Given the description of an element on the screen output the (x, y) to click on. 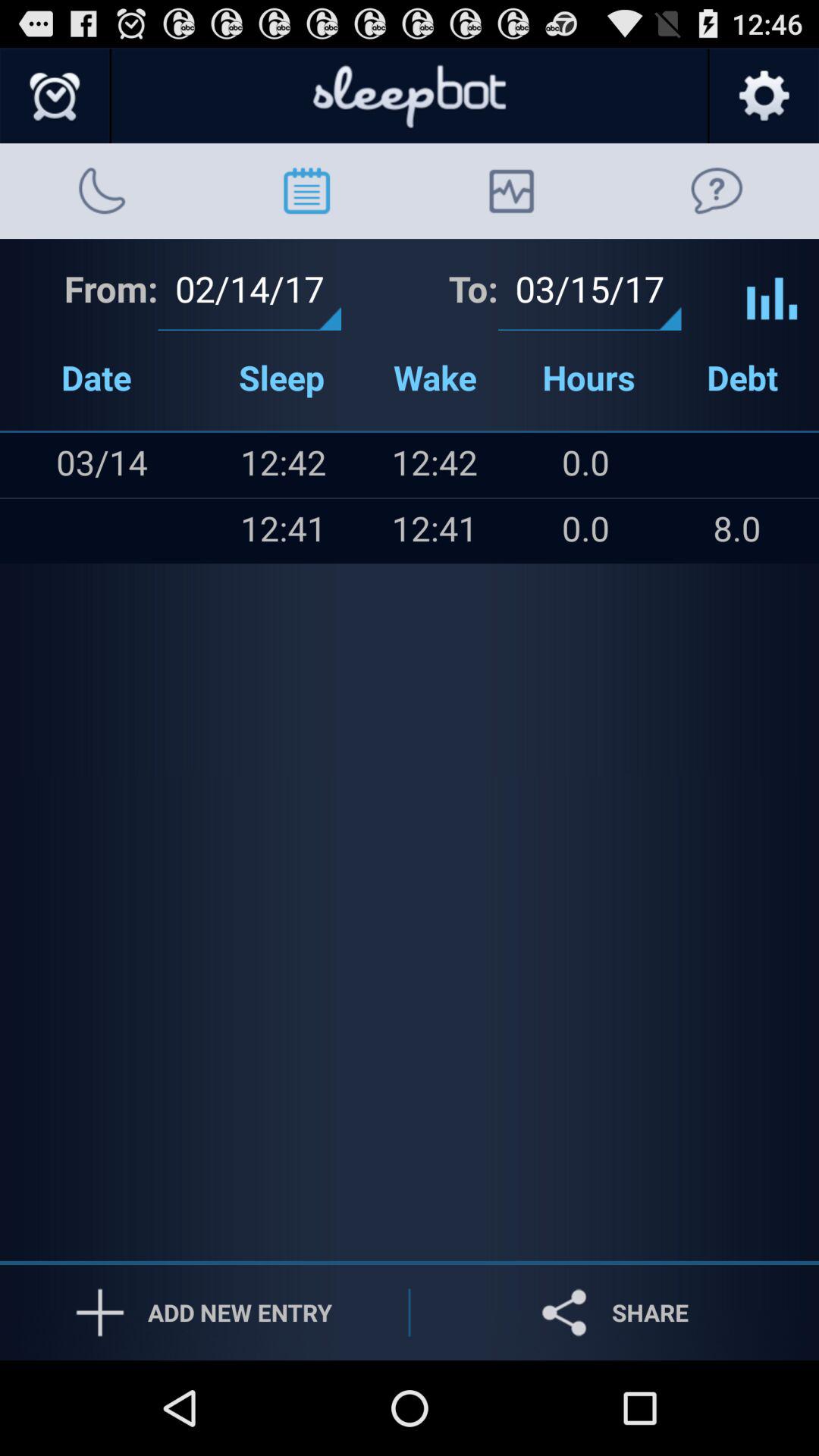
shows clock icon (55, 96)
